Given the description of an element on the screen output the (x, y) to click on. 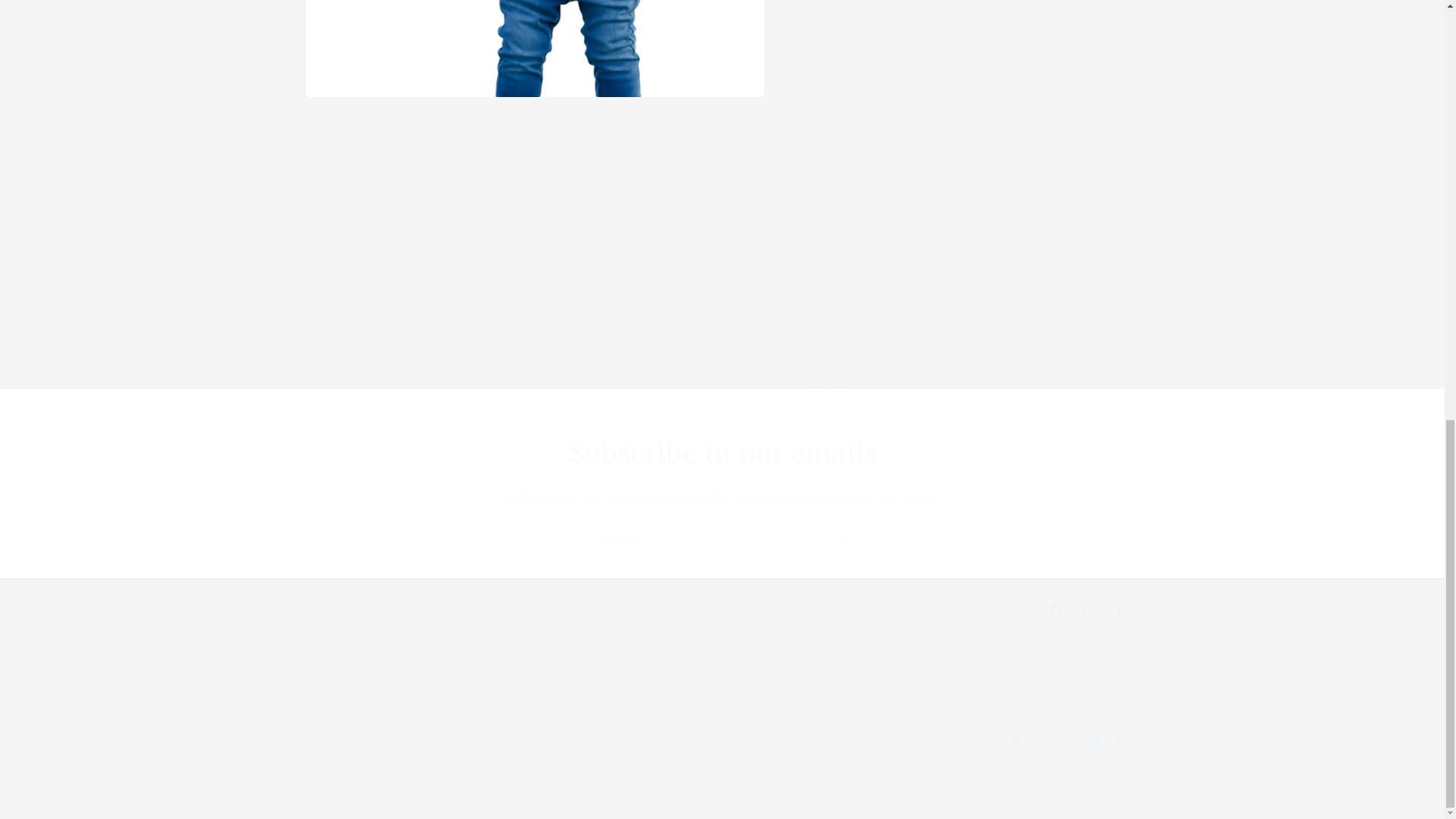
Open media 2 in modal (415, 99)
Email (721, 611)
Subscribe to our emails (722, 542)
